Given the description of an element on the screen output the (x, y) to click on. 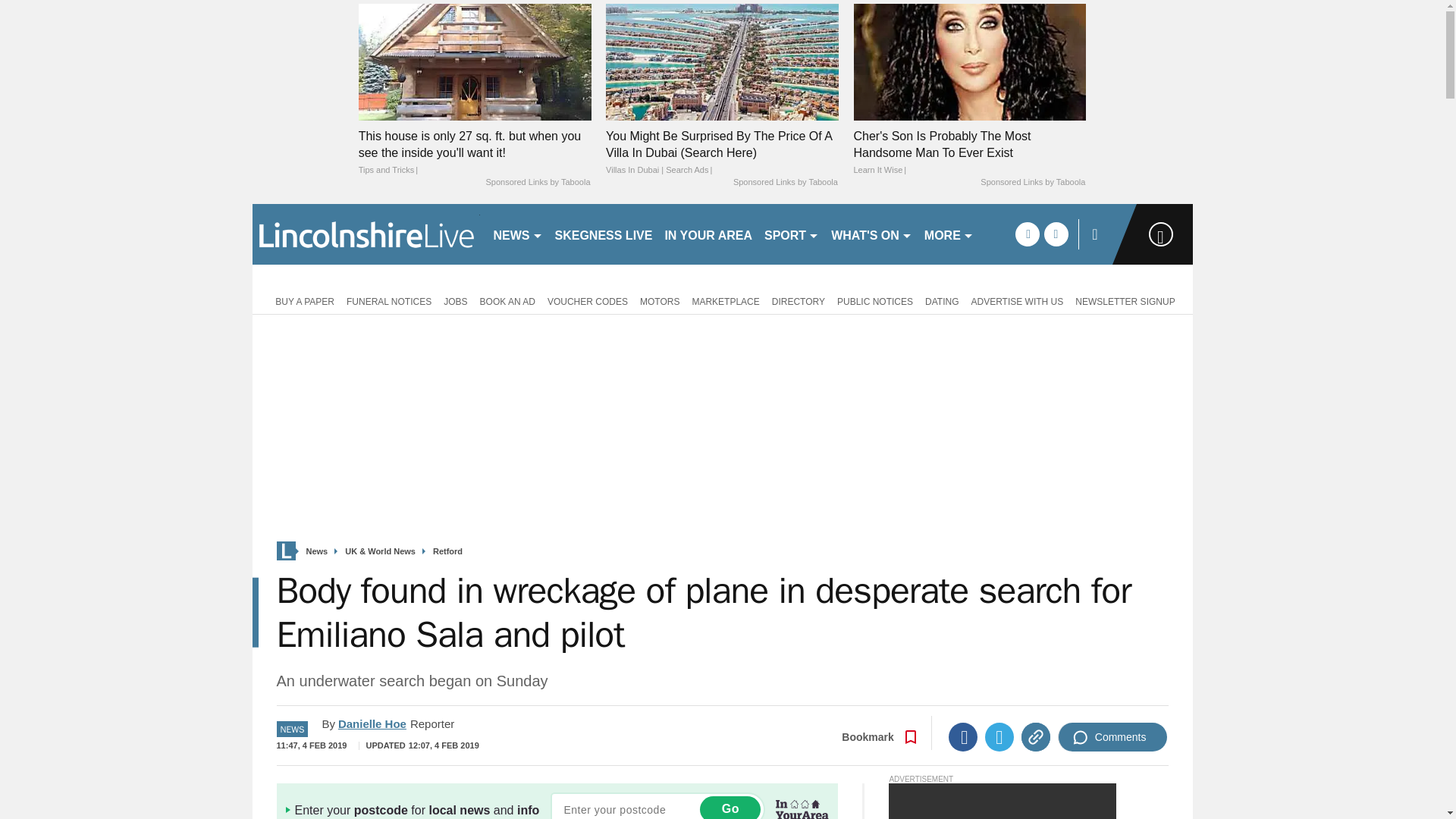
Twitter (999, 736)
Comments (1112, 736)
Cher's Son Is Probably The Most Handsome Man To Ever Exist (969, 61)
Sponsored Links by Taboola (785, 182)
SKEGNESS LIVE (603, 233)
facebook (1026, 233)
Cher's Son Is Probably The Most Handsome Man To Ever Exist (969, 152)
Sponsored Links by Taboola (536, 182)
IN YOUR AREA (708, 233)
Facebook (962, 736)
lincolnshirelive (365, 233)
twitter (1055, 233)
SPORT (791, 233)
